Given the description of an element on the screen output the (x, y) to click on. 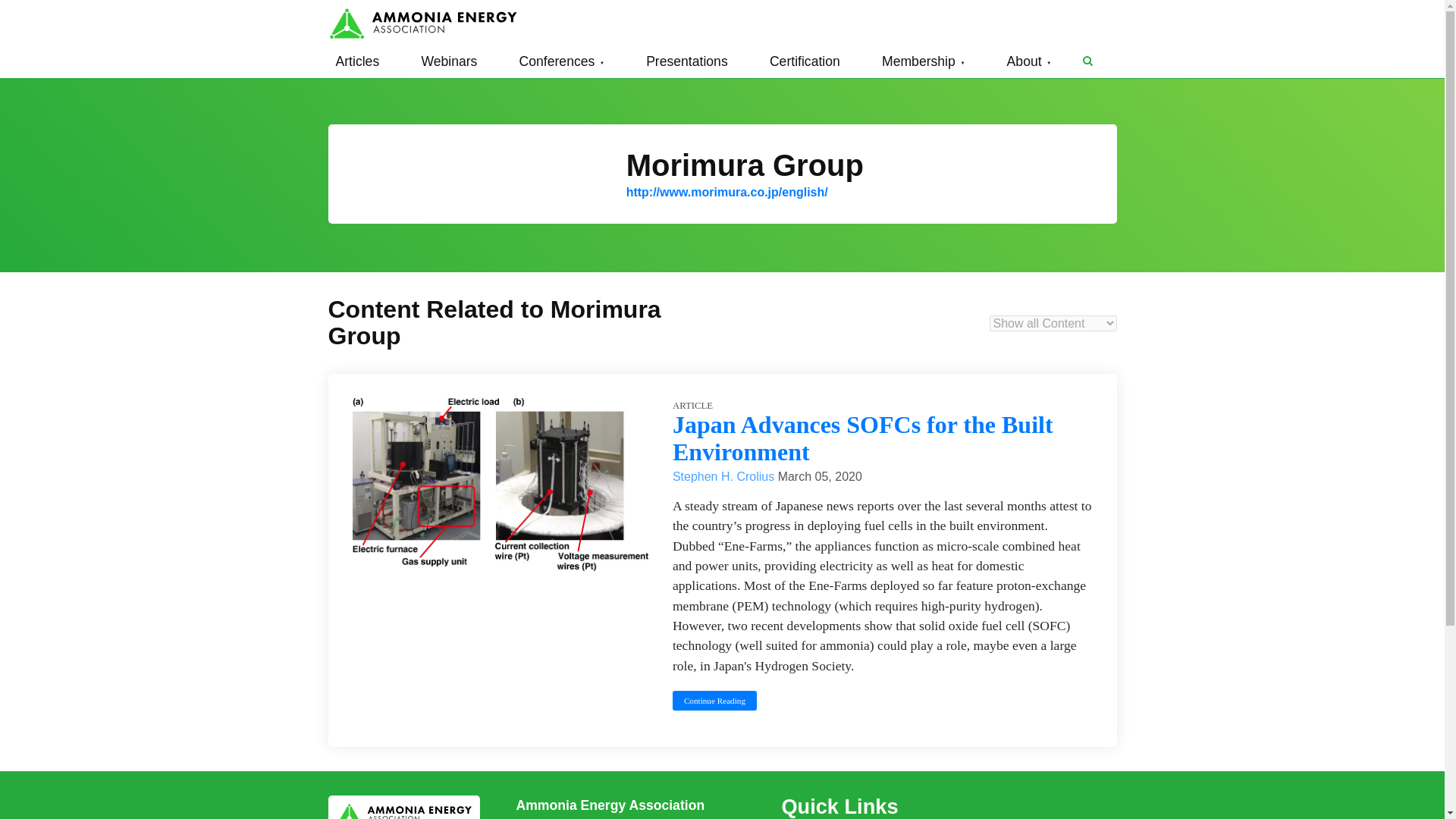
Presentations (687, 60)
Search (1088, 61)
Articles (357, 60)
Webinars (448, 60)
Certification (804, 60)
Stephen H. Crolius (724, 476)
Conferences (561, 60)
About (1028, 60)
